Given the description of an element on the screen output the (x, y) to click on. 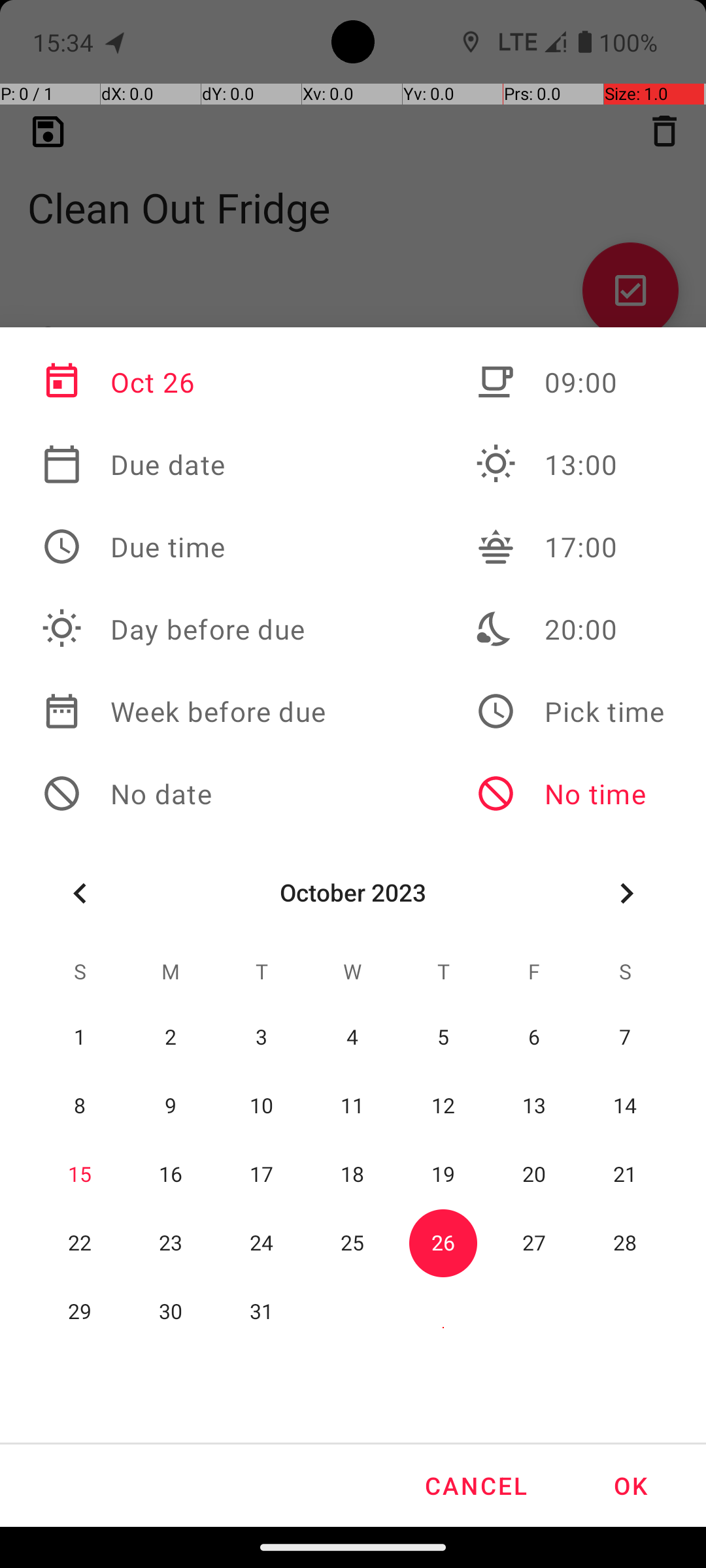
Oct 26 Element type: android.widget.CompoundButton (183, 382)
Due date Element type: android.widget.CompoundButton (183, 464)
Due time Element type: android.widget.CompoundButton (183, 546)
Day before due Element type: android.widget.CompoundButton (183, 629)
Week before due Element type: android.widget.CompoundButton (183, 711)
